Given the description of an element on the screen output the (x, y) to click on. 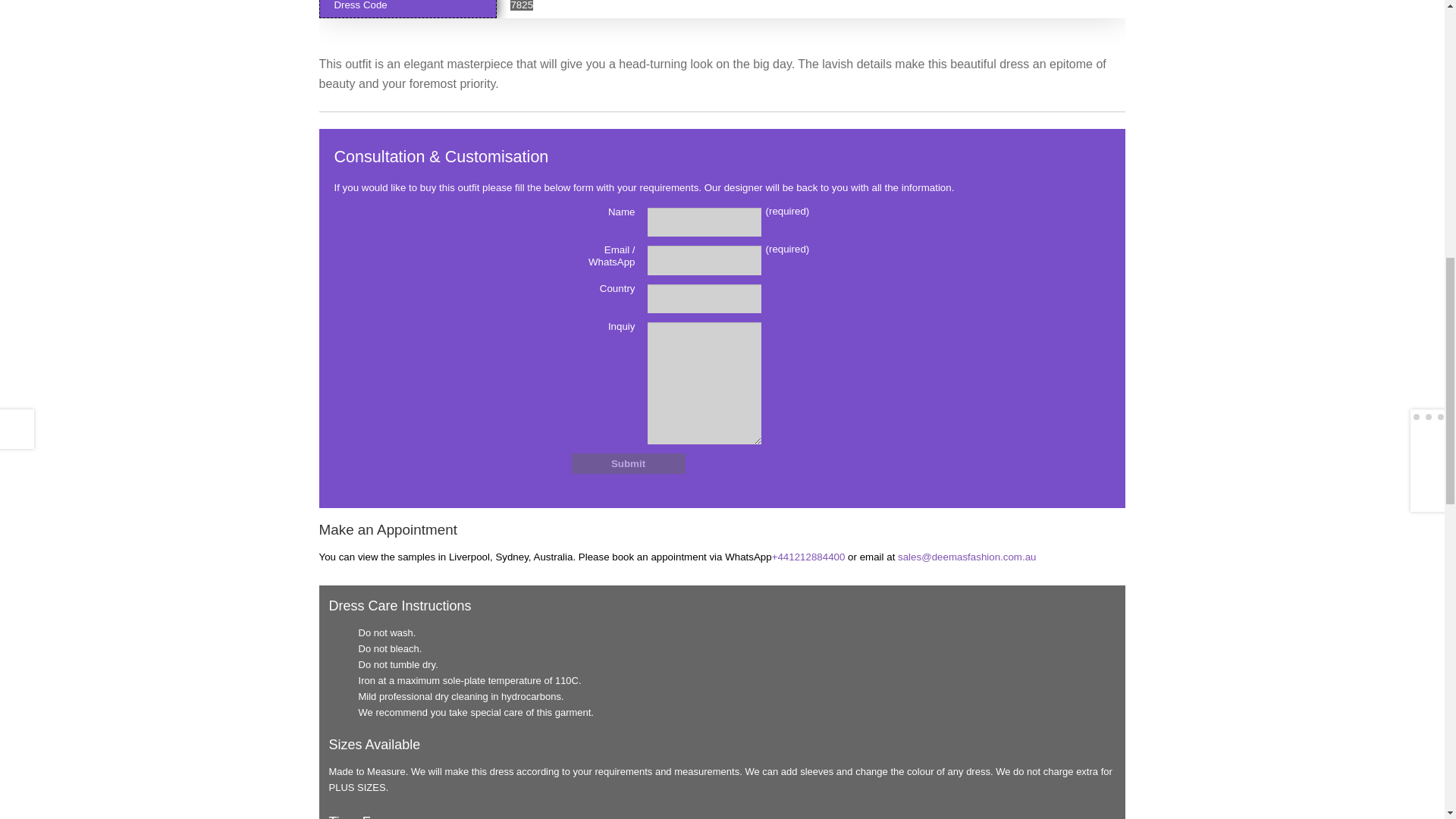
Submit (628, 464)
